Given the description of an element on the screen output the (x, y) to click on. 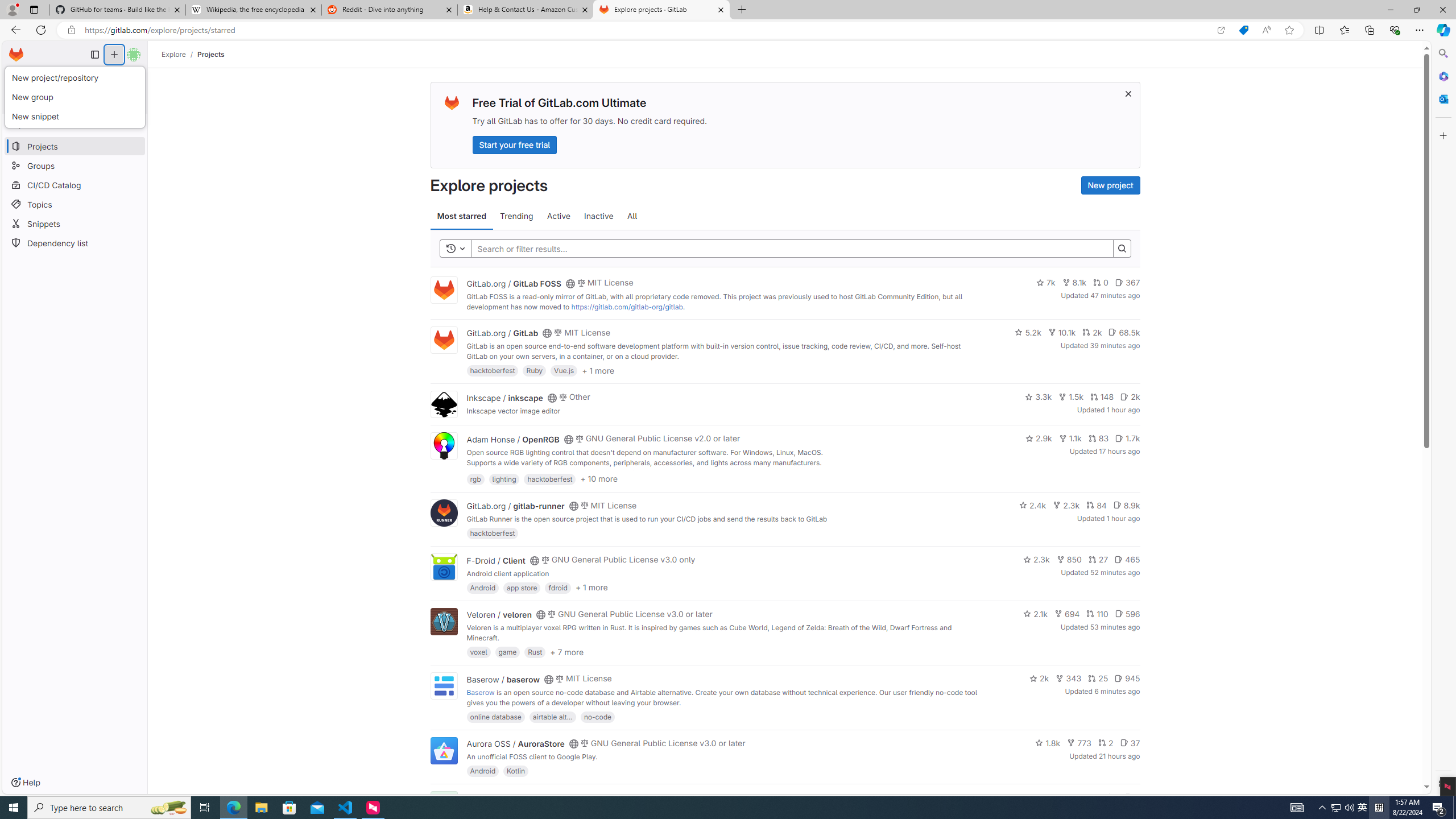
Start your free trial (514, 144)
2.4k (1032, 504)
New project/repository (74, 77)
Explore/ (179, 53)
New project/repositoryNew groupNew snippet (75, 97)
143 (1085, 797)
game (507, 651)
25 (1097, 678)
Rust (535, 651)
New project/repository (75, 77)
2k (1039, 678)
